Given the description of an element on the screen output the (x, y) to click on. 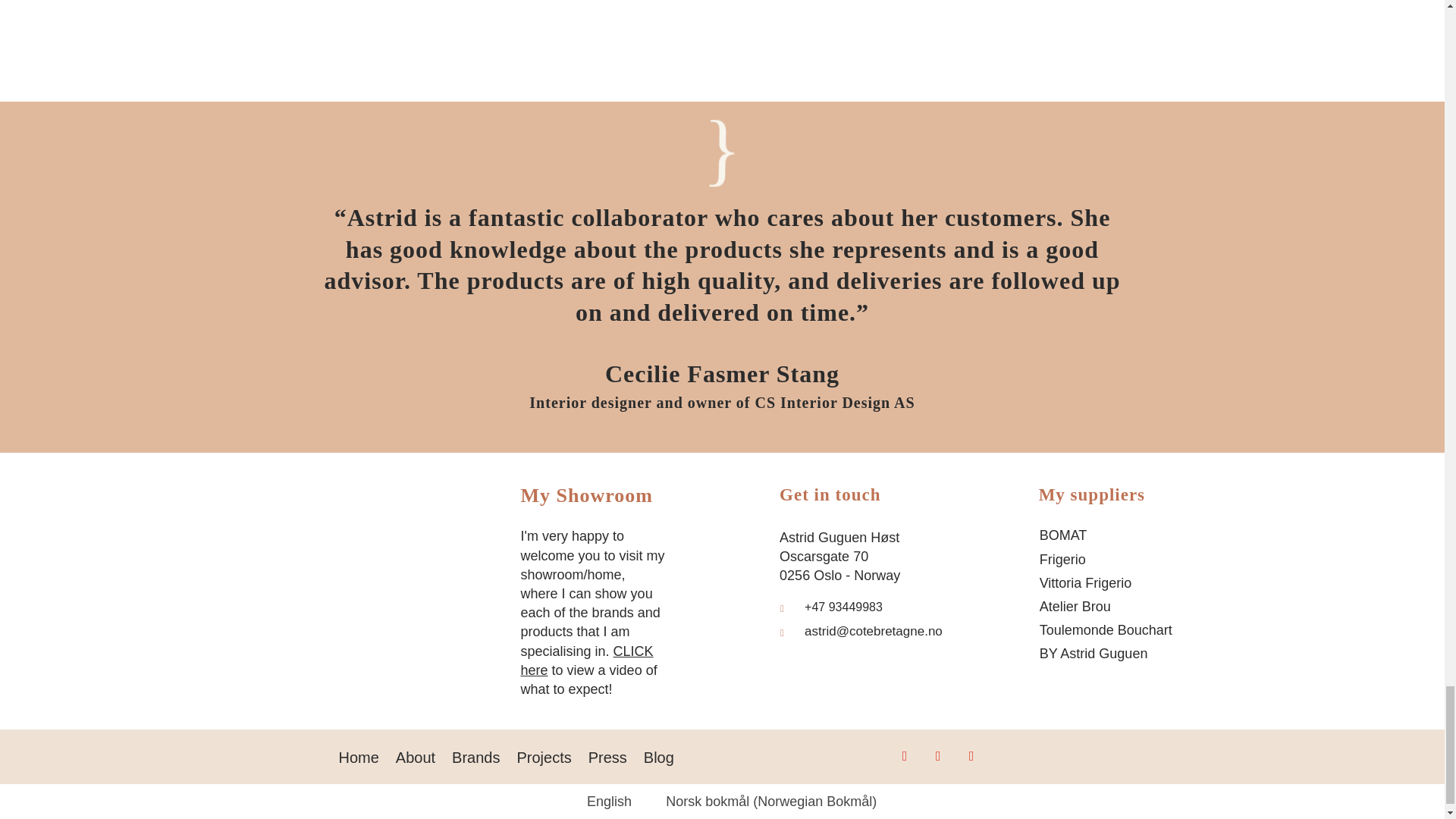
CLICK here to view a video of what to expect! (589, 669)
